Given the description of an element on the screen output the (x, y) to click on. 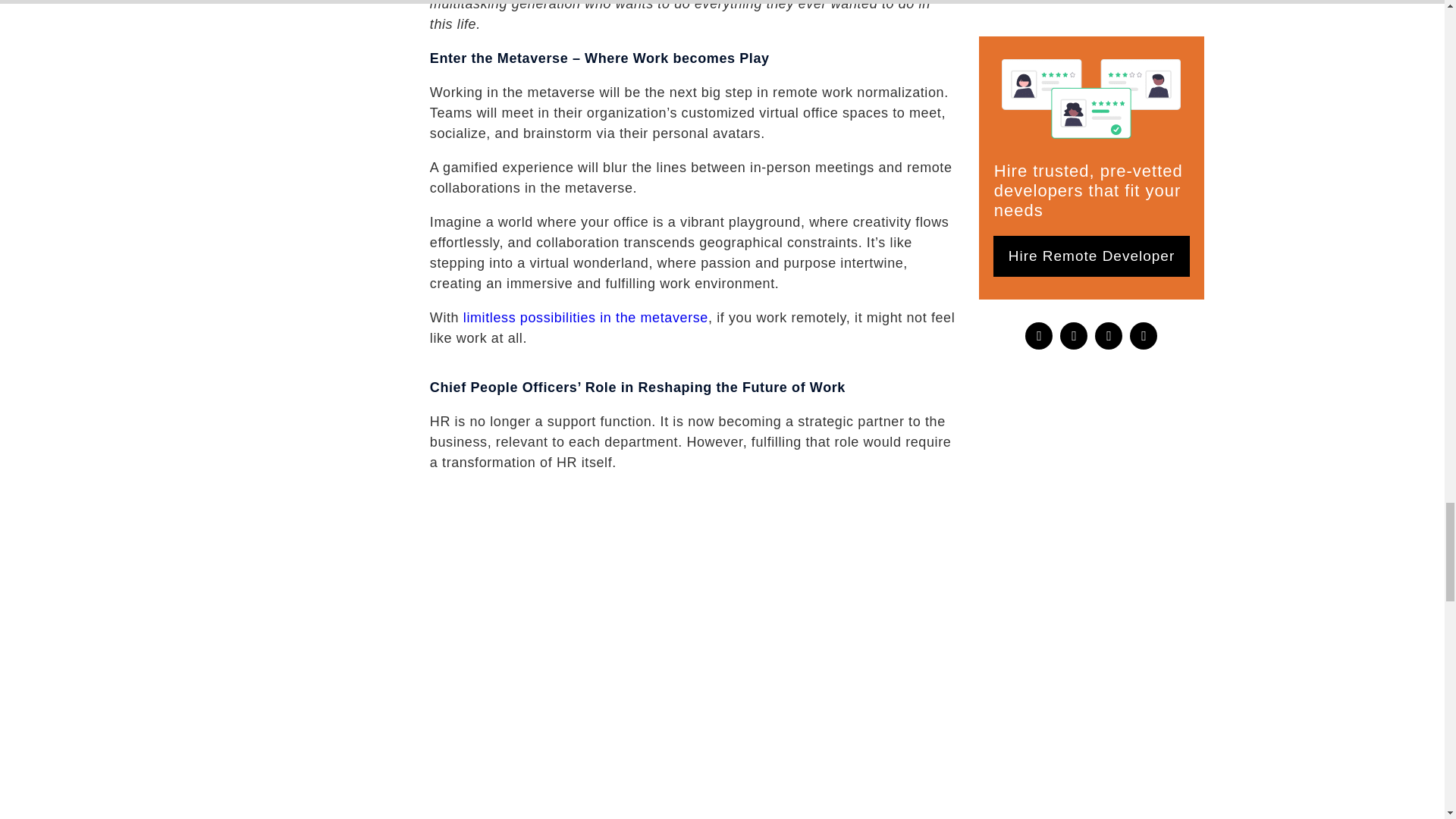
limitless possibilities in the metaverse (585, 317)
